Given the description of an element on the screen output the (x, y) to click on. 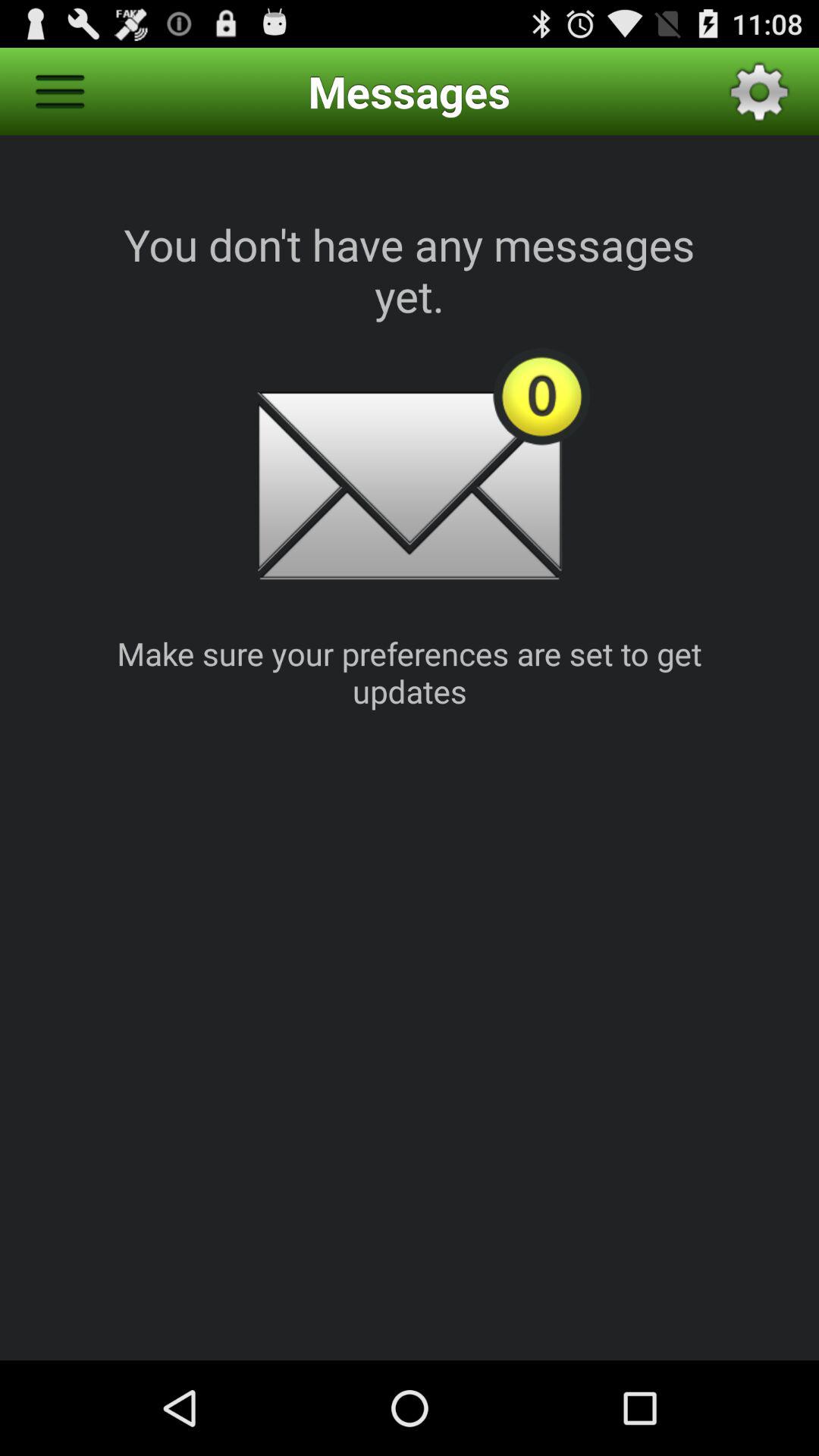
select the icon at the top right corner (759, 91)
